Given the description of an element on the screen output the (x, y) to click on. 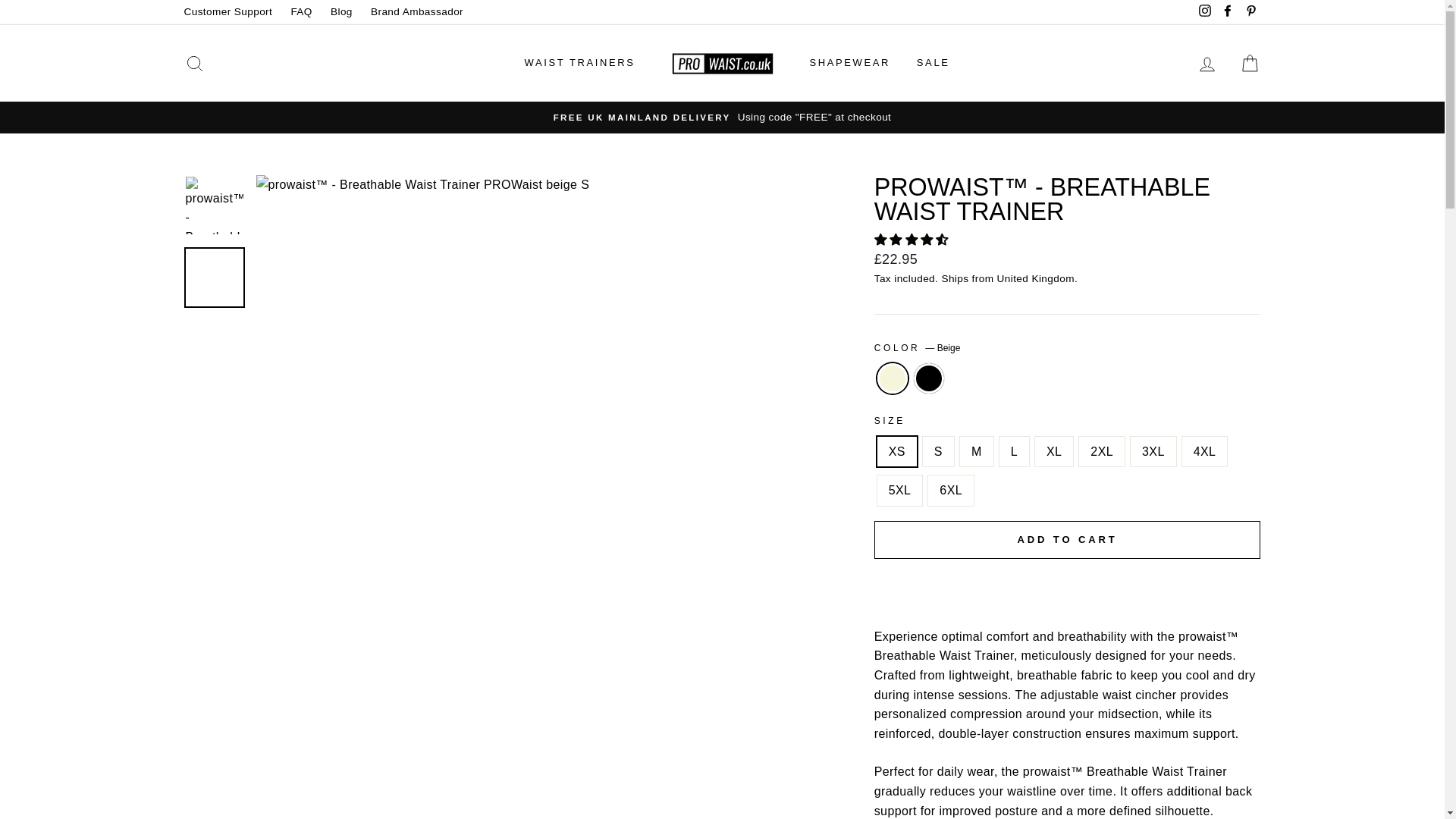
Customer Support (227, 12)
FAQ (300, 12)
